Given the description of an element on the screen output the (x, y) to click on. 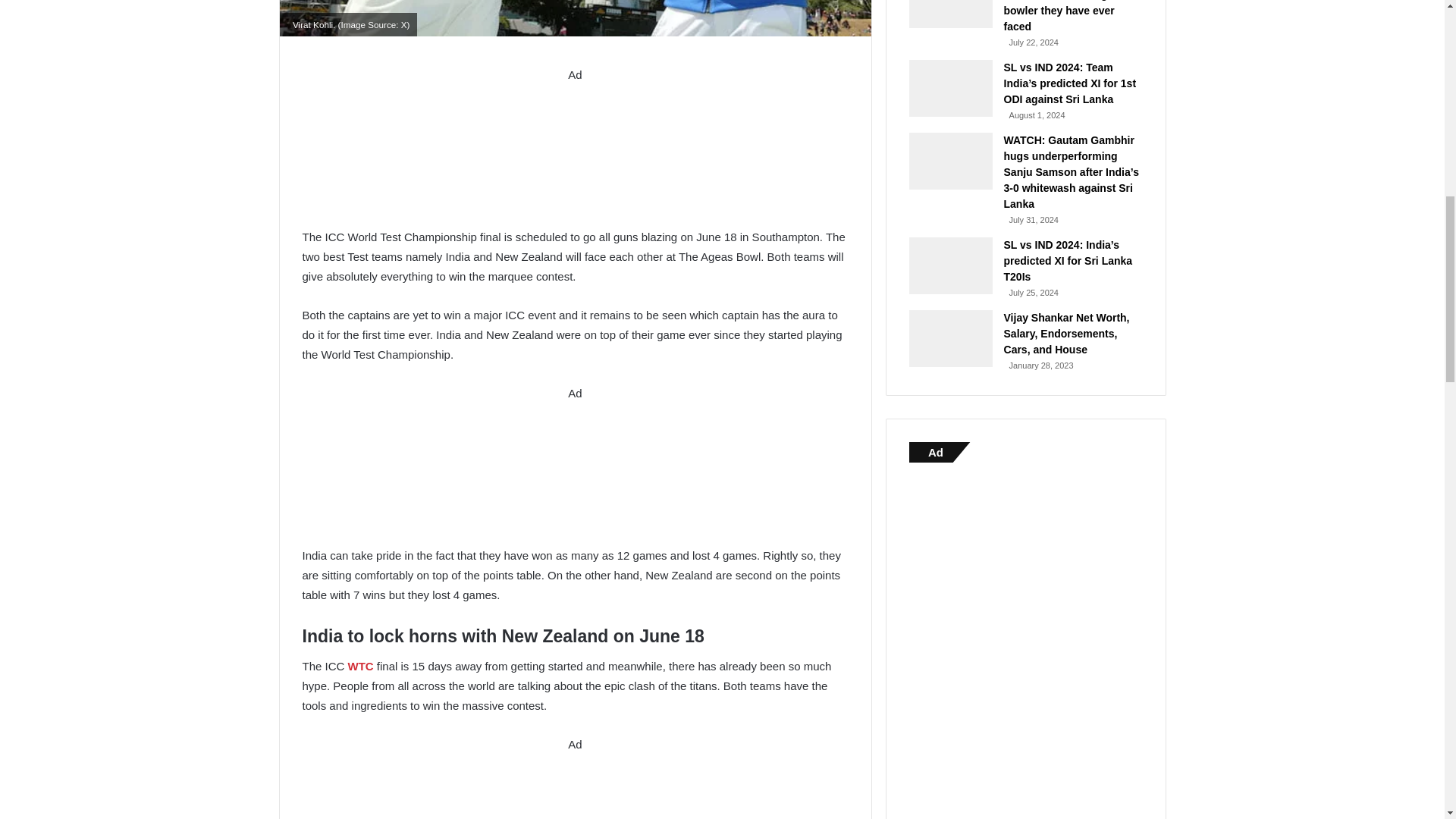
WTC (360, 666)
